Given the description of an element on the screen output the (x, y) to click on. 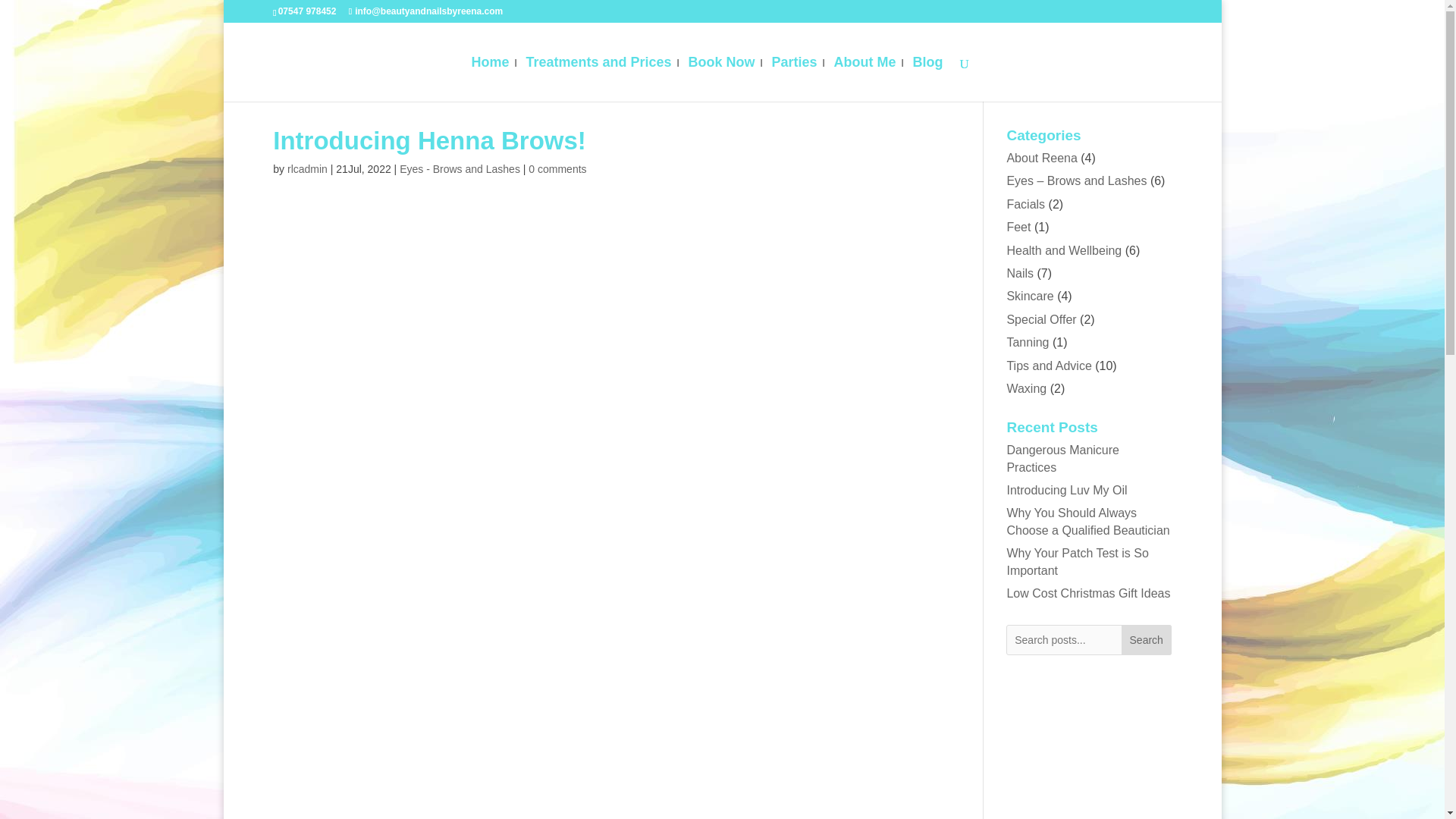
Eyes - Brows and Lashes (458, 168)
Low Cost Christmas Gift Ideas (1088, 593)
Why Your Patch Test is So Important (1077, 561)
Waxing (1026, 388)
Why You Should Always Choose a Qualified Beautician (1087, 521)
Parties (793, 78)
Tanning (1027, 341)
Health and Wellbeing (1063, 250)
Dangerous Manicure Practices (1062, 458)
About Me (865, 78)
